Given the description of an element on the screen output the (x, y) to click on. 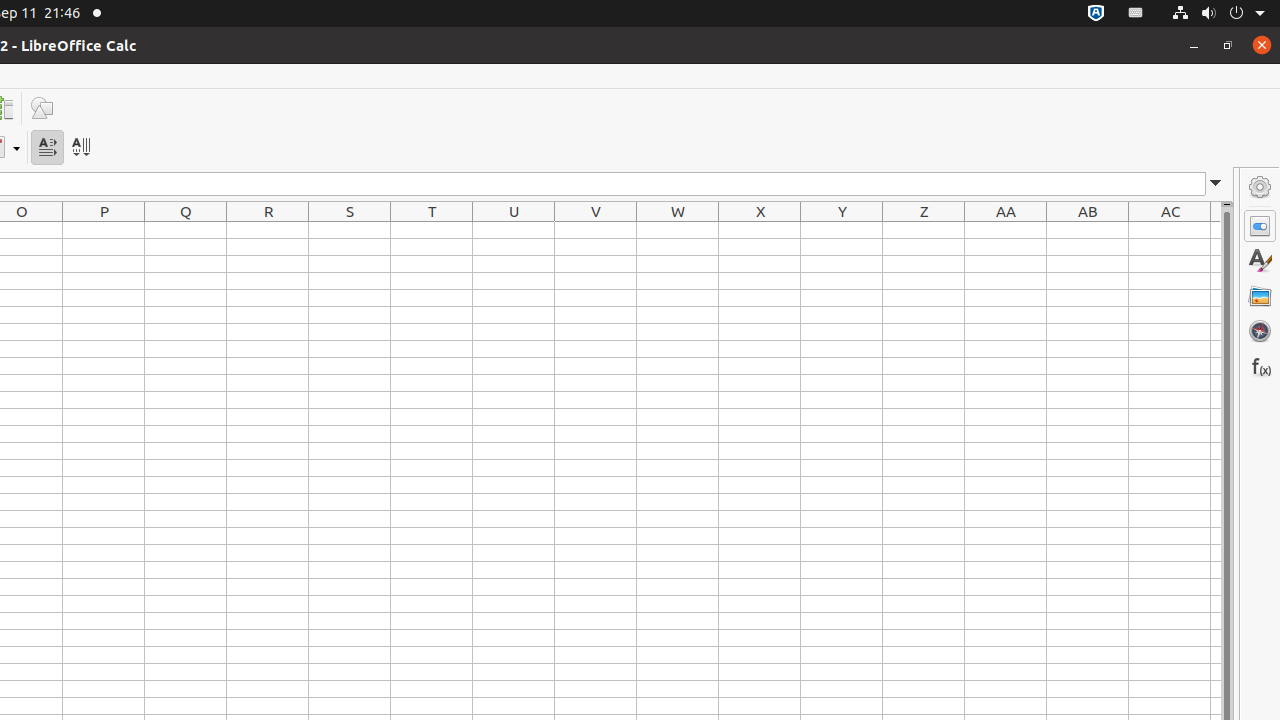
AB1 Element type: table-cell (1088, 230)
S1 Element type: table-cell (350, 230)
V1 Element type: table-cell (596, 230)
Y1 Element type: table-cell (842, 230)
AA1 Element type: table-cell (1006, 230)
